Given the description of an element on the screen output the (x, y) to click on. 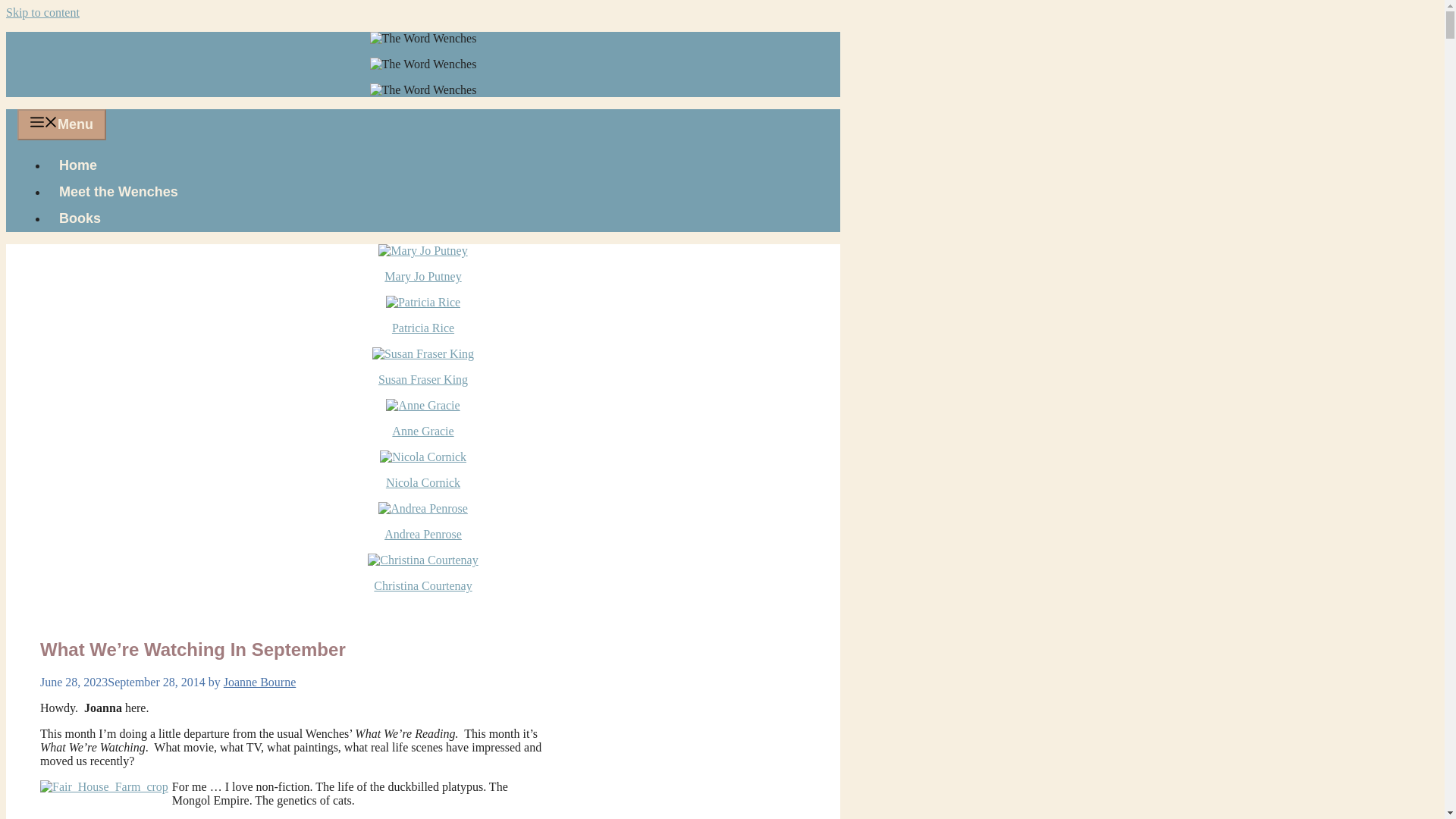
Anne Gracie (421, 431)
Skip to content (42, 11)
Menu (61, 124)
Nicola Cornick (422, 481)
Susan Fraser King (422, 379)
Patricia Rice (422, 327)
Meet the Wenches (118, 191)
Skip to content (42, 11)
View all posts by Joanne Bourne (260, 681)
Home (77, 165)
